Given the description of an element on the screen output the (x, y) to click on. 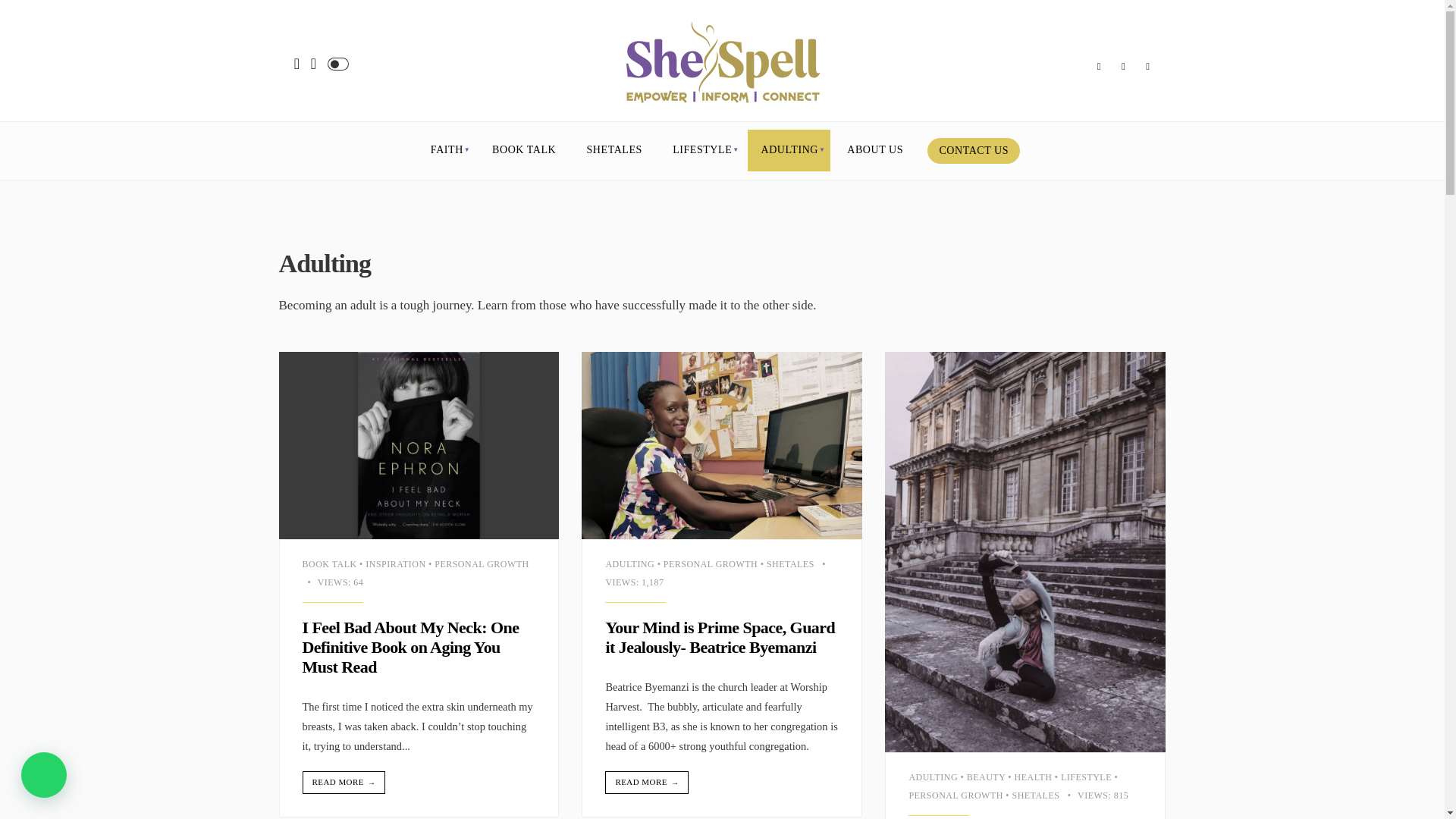
ADULTING (629, 563)
PERSONAL GROWTH (480, 563)
ABOUT US (874, 150)
FAITH (446, 150)
Instagram (1123, 66)
BOOK TALK (524, 150)
BOOK TALK (328, 563)
YouTube (1147, 66)
Twitter (1098, 66)
LIFESTYLE (701, 150)
PERSONAL GROWTH (710, 563)
ADULTING (789, 150)
INSPIRATION (395, 563)
SHETALES (614, 150)
